Given the description of an element on the screen output the (x, y) to click on. 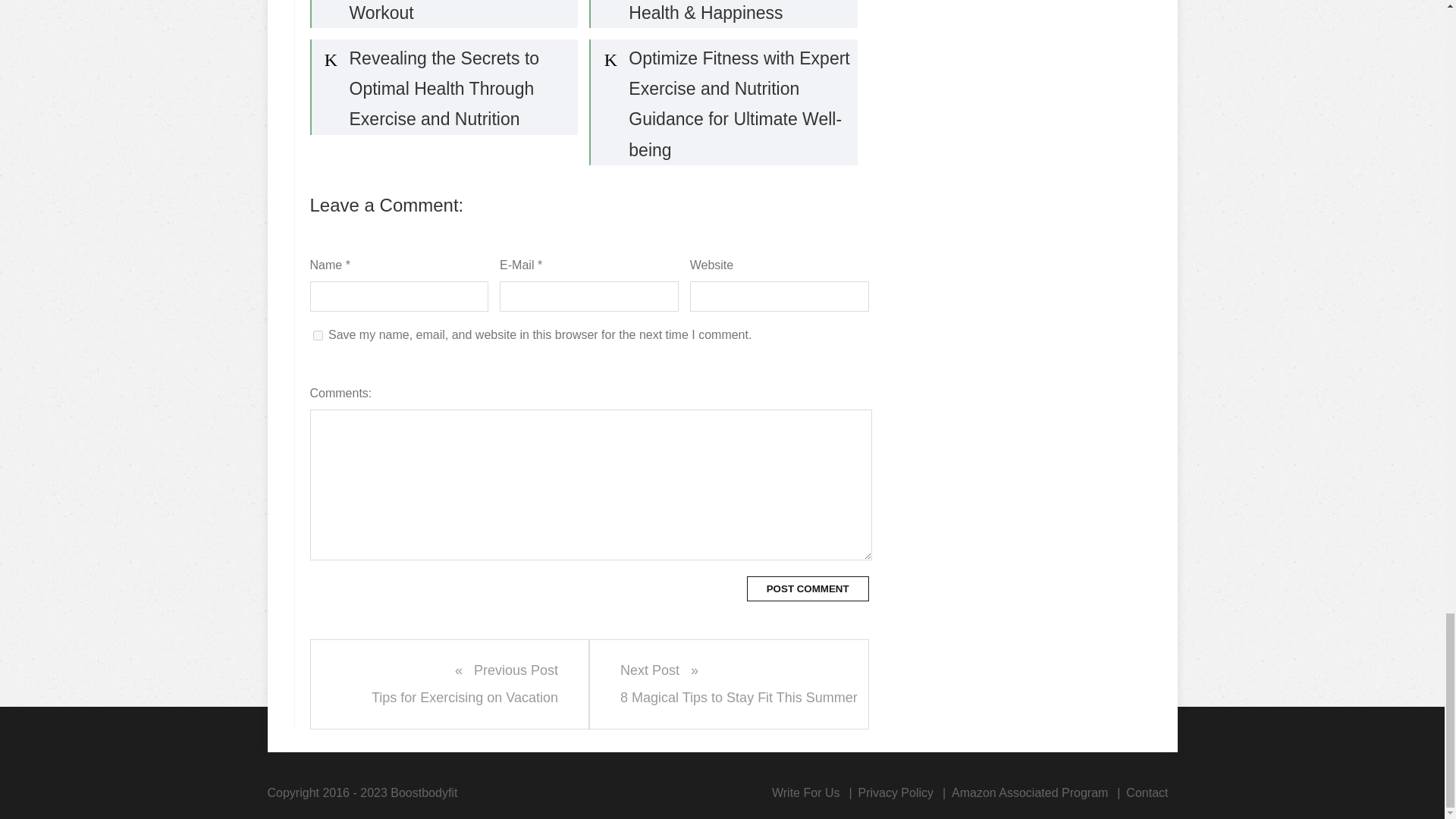
Contact (1146, 792)
Post Comment (728, 683)
yes (807, 588)
Privacy Policy (450, 683)
Post Comment (317, 335)
Amazon Associated Program (895, 792)
Write For Us (807, 588)
